Given the description of an element on the screen output the (x, y) to click on. 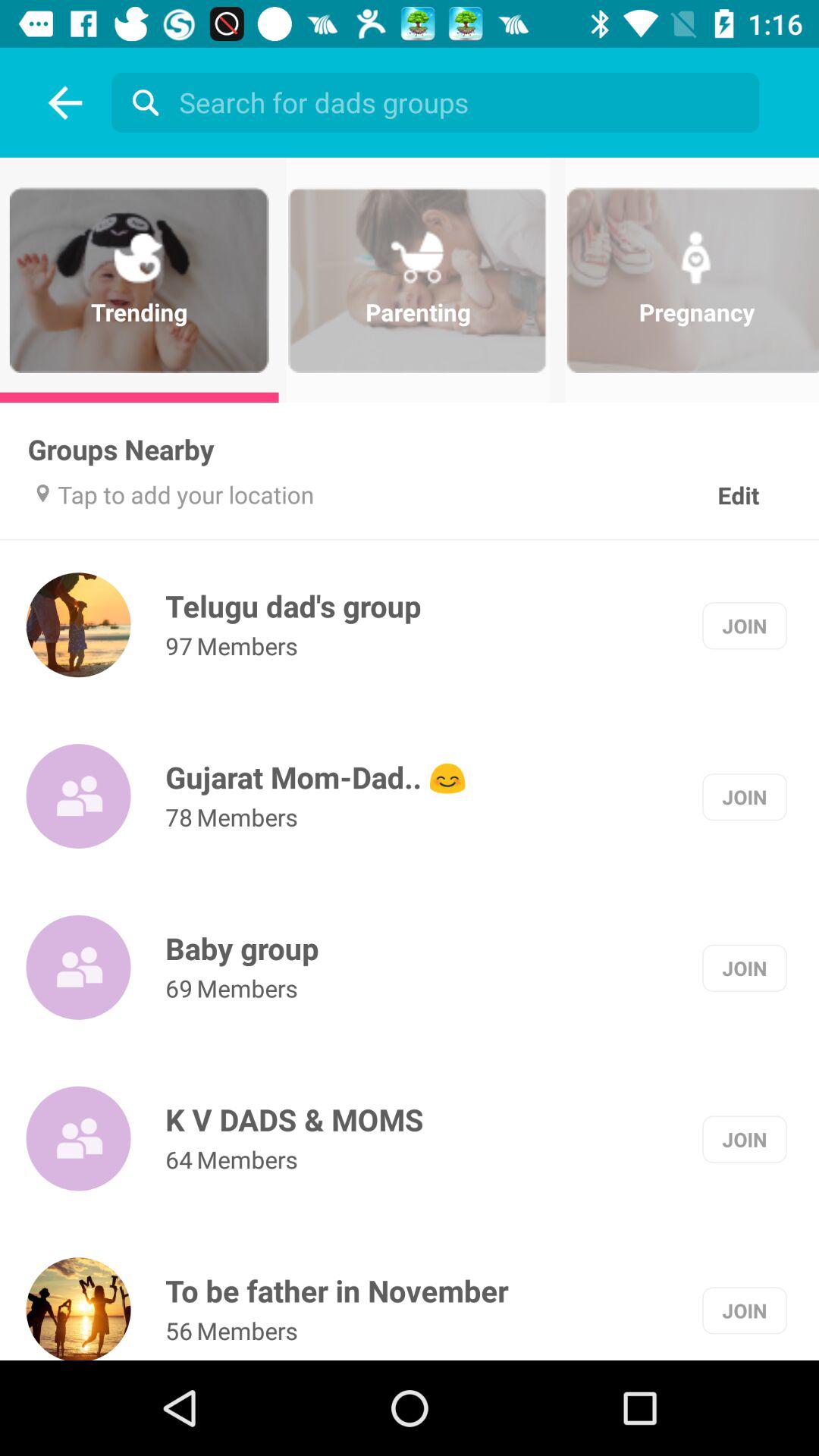
choose baby group item (242, 948)
